Given the description of an element on the screen output the (x, y) to click on. 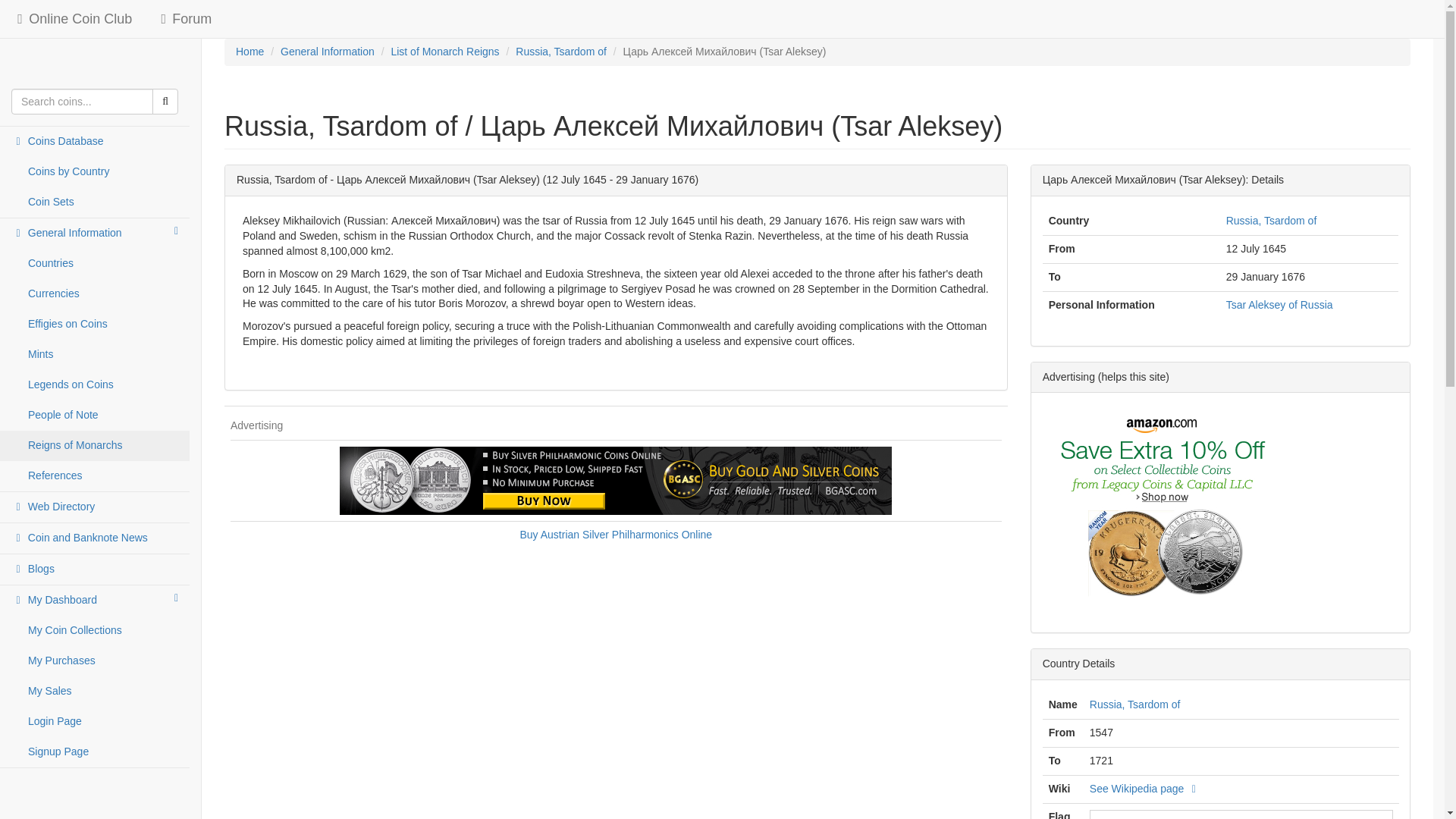
Russia, Tsardom of (1271, 220)
Russia, Tsardom of (561, 51)
Coins Database (94, 141)
Online Coin Club (71, 18)
Effigies on Coins (94, 324)
Forum (182, 18)
General Information (327, 51)
Tsar Aleksey of Russia (1279, 304)
Coins by Country (94, 172)
Mints (94, 354)
Coin Sets (94, 202)
Blogs (94, 569)
Web Directory (94, 507)
Russia, Tsardom of (1134, 704)
My Sales (94, 691)
